Given the description of an element on the screen output the (x, y) to click on. 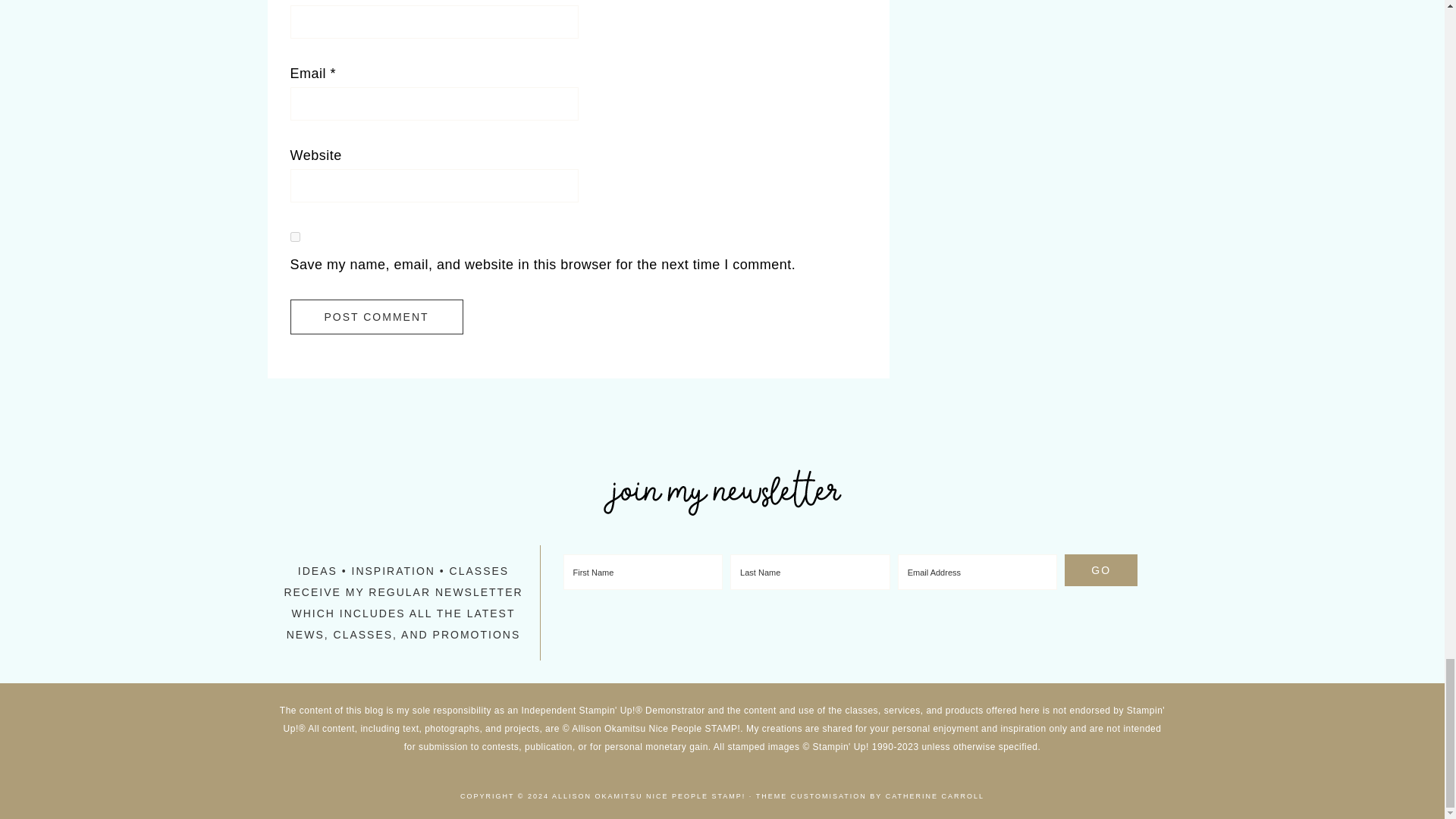
Post Comment (376, 316)
yes (294, 236)
Go (1100, 570)
